Given the description of an element on the screen output the (x, y) to click on. 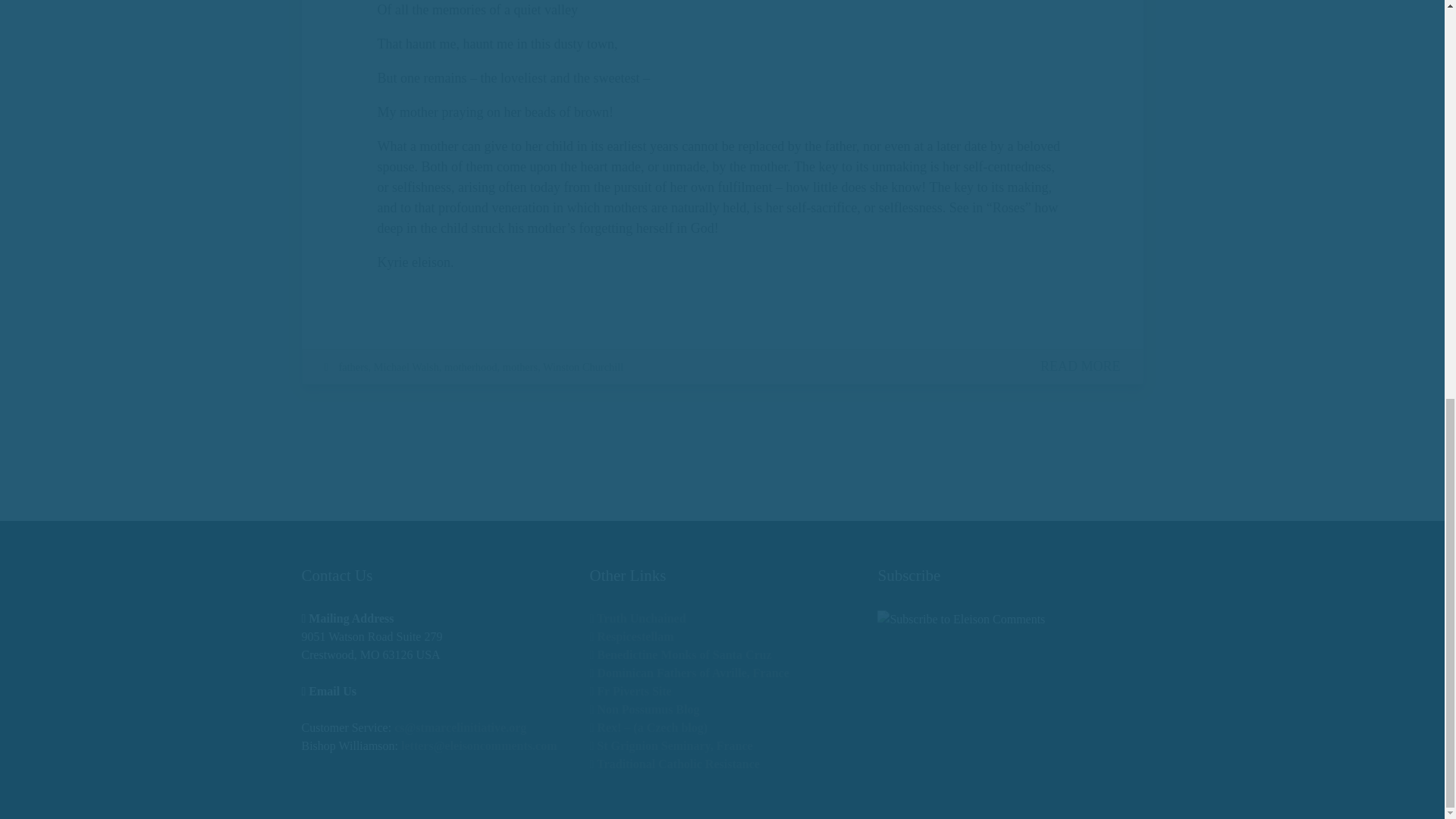
Benedictine Monks of Santa Cruz (680, 654)
motherhood, mothers (490, 367)
Fr Piverts Site (630, 690)
Dominican Fathers of Avrille, France (689, 672)
fathers (352, 367)
READ MORE (1081, 366)
Winston Churchill (583, 367)
Respicestellam (630, 635)
Truth Unchained (637, 617)
Michael Walsh (406, 367)
